Given the description of an element on the screen output the (x, y) to click on. 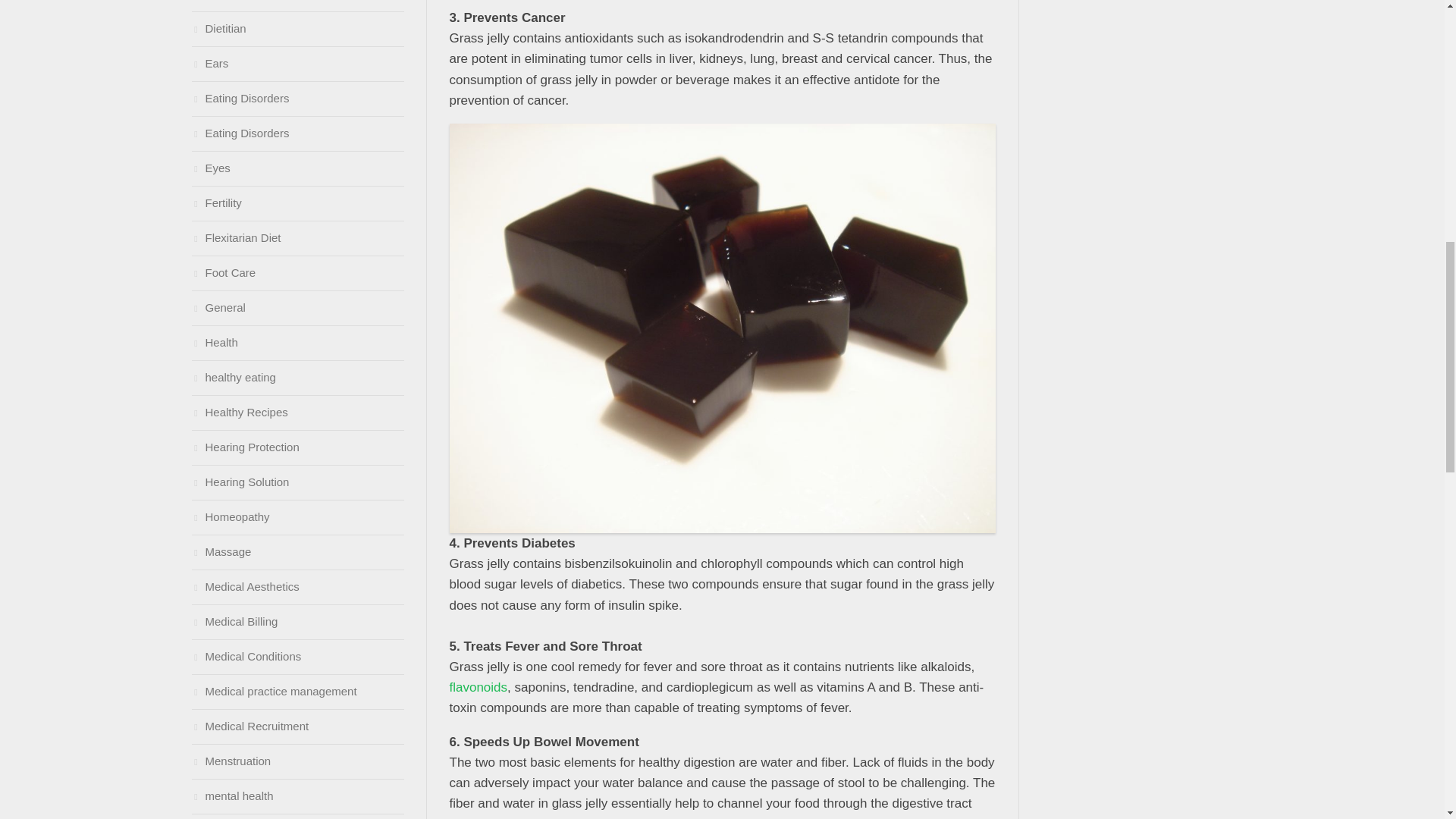
flavonoids (477, 687)
